Given the description of an element on the screen output the (x, y) to click on. 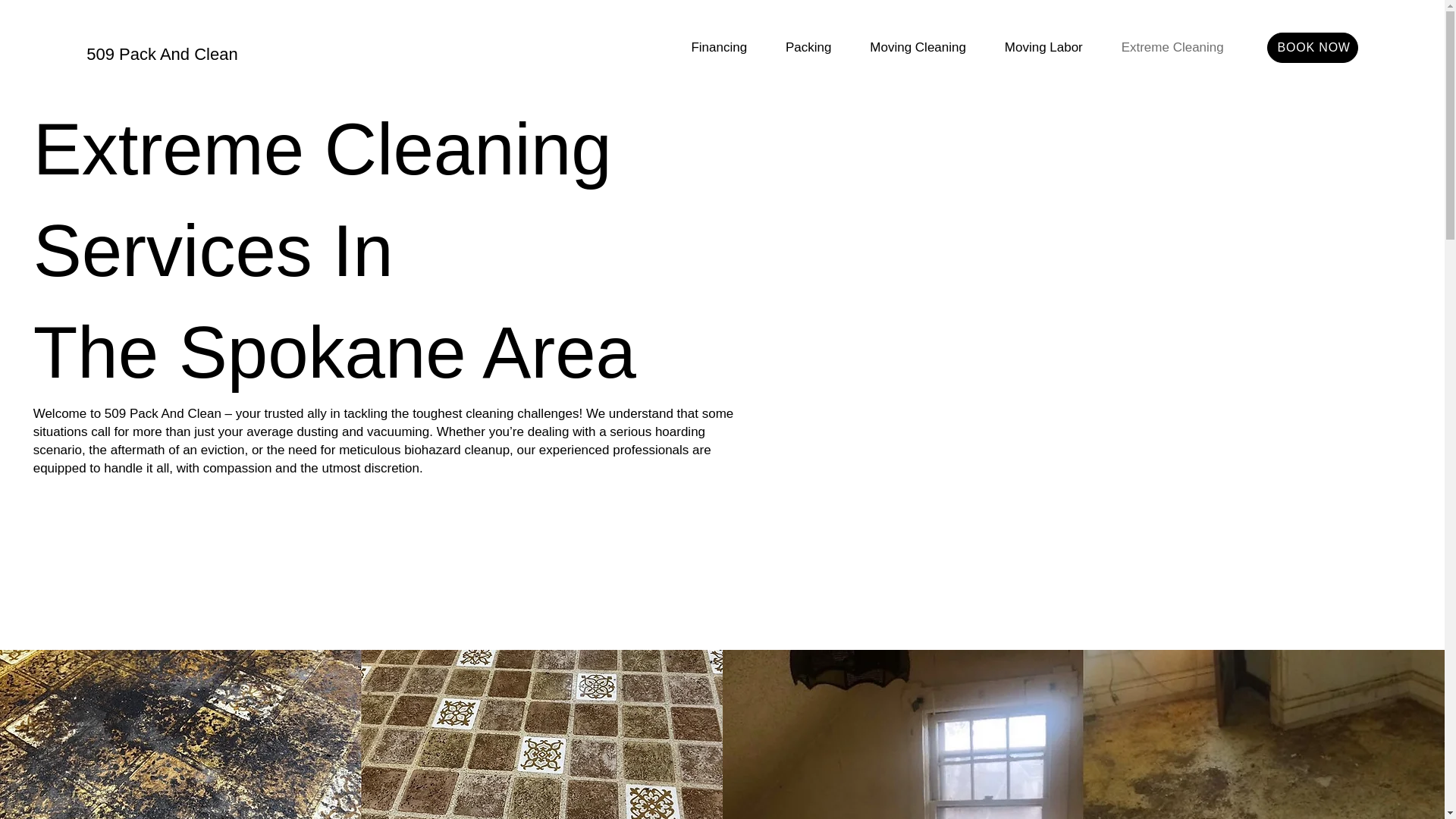
Packing (808, 46)
Moving Labor (1043, 46)
Extreme Cleaning (1171, 46)
Moving Cleaning (917, 46)
Financing (719, 46)
BOOK NOW (1312, 46)
509 Pack And Clean (161, 54)
